Given the description of an element on the screen output the (x, y) to click on. 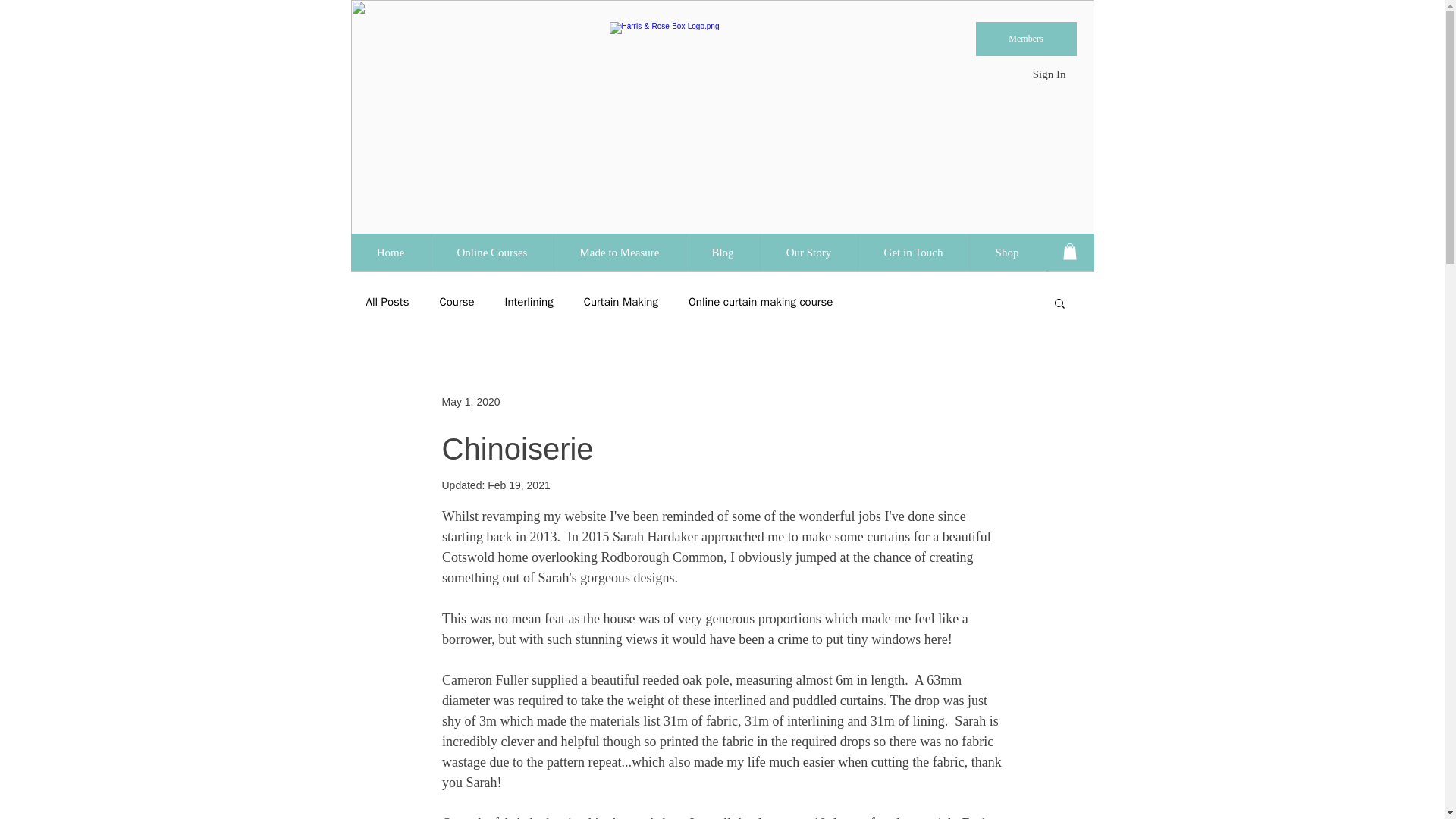
Members (1025, 39)
Get in Touch (912, 252)
May 1, 2020 (470, 401)
Interlining (529, 301)
Course (456, 301)
Online Courses (491, 252)
Our Story (808, 252)
Made to Measure (619, 252)
All Posts (387, 301)
Feb 19, 2021 (518, 485)
Sign In (1049, 74)
Blog (722, 252)
Online curtain making course (760, 301)
Home (389, 252)
Shop (1007, 252)
